Given the description of an element on the screen output the (x, y) to click on. 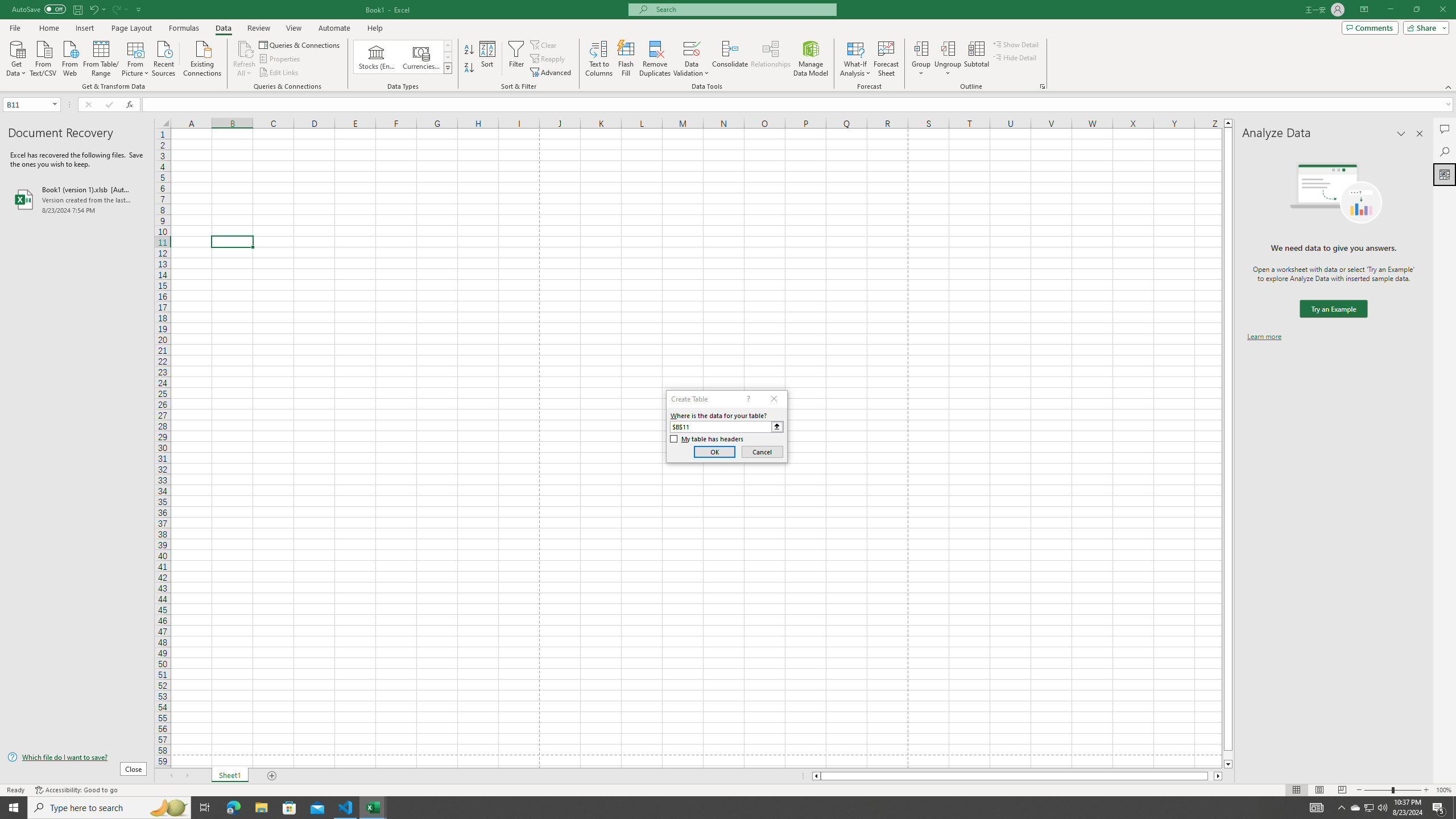
We need data to give you answers. Try an Example (1333, 308)
From Text/CSV (43, 57)
What-If Analysis (855, 58)
Subtotal (976, 58)
